Given the description of an element on the screen output the (x, y) to click on. 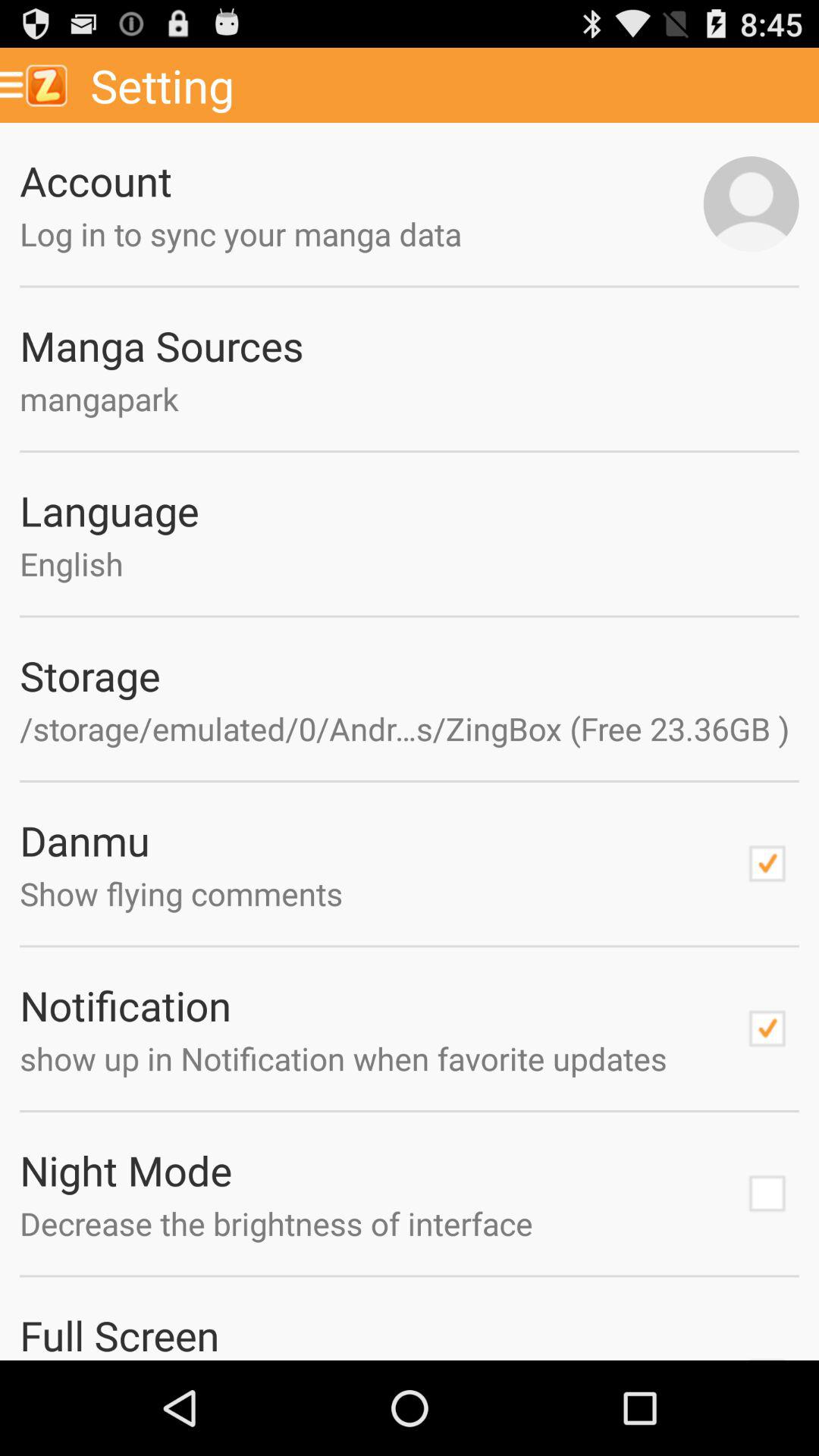
enable night mode (767, 1193)
